Given the description of an element on the screen output the (x, y) to click on. 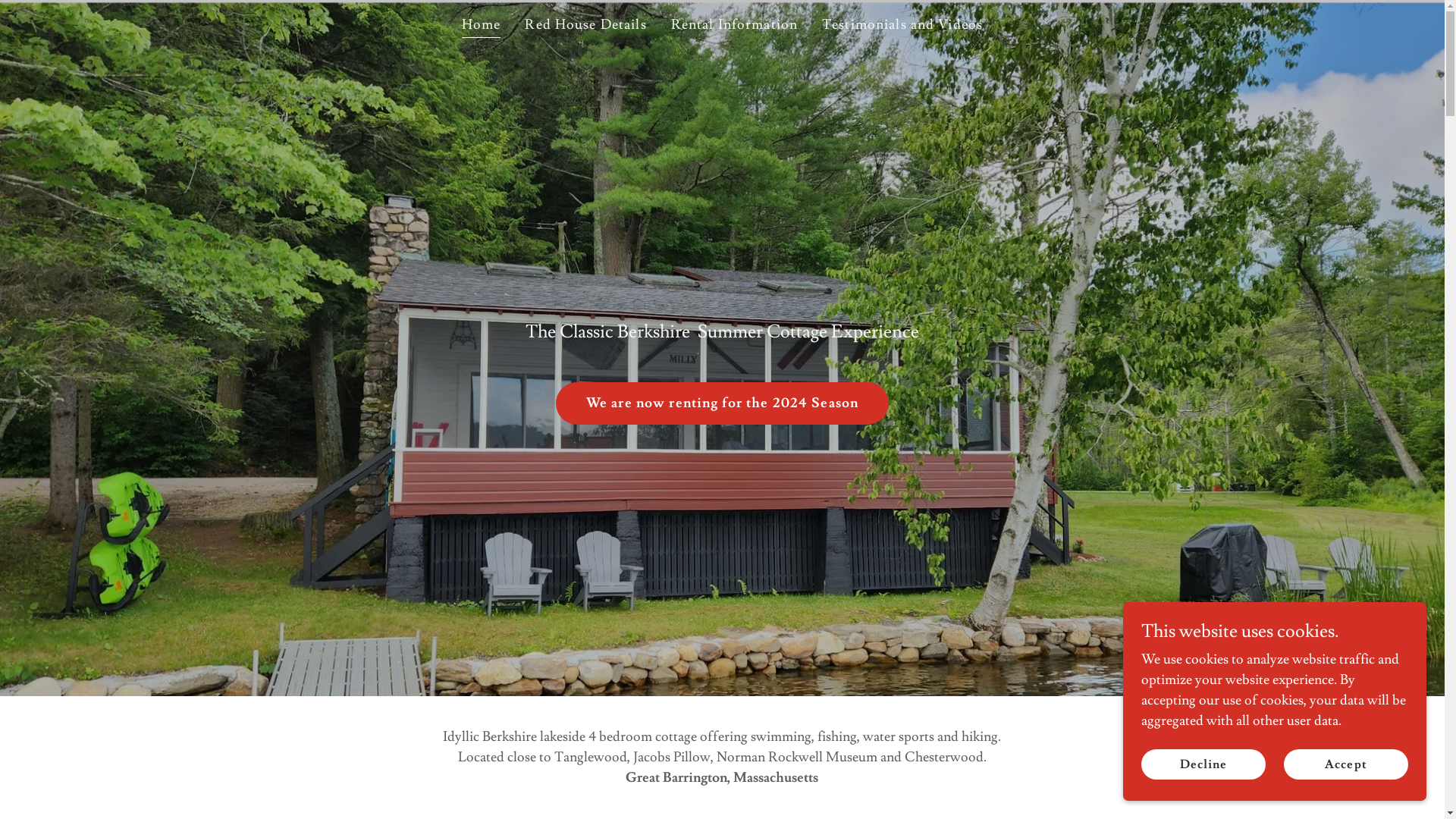
Rental Information Element type: text (734, 24)
Decline Element type: text (1203, 764)
We are now renting for the 2024 Season Element type: text (721, 403)
Testimonials and Videos Element type: text (902, 24)
Accept Element type: text (1345, 764)
Red House Details Element type: text (585, 24)
Home Element type: text (481, 26)
